Given the description of an element on the screen output the (x, y) to click on. 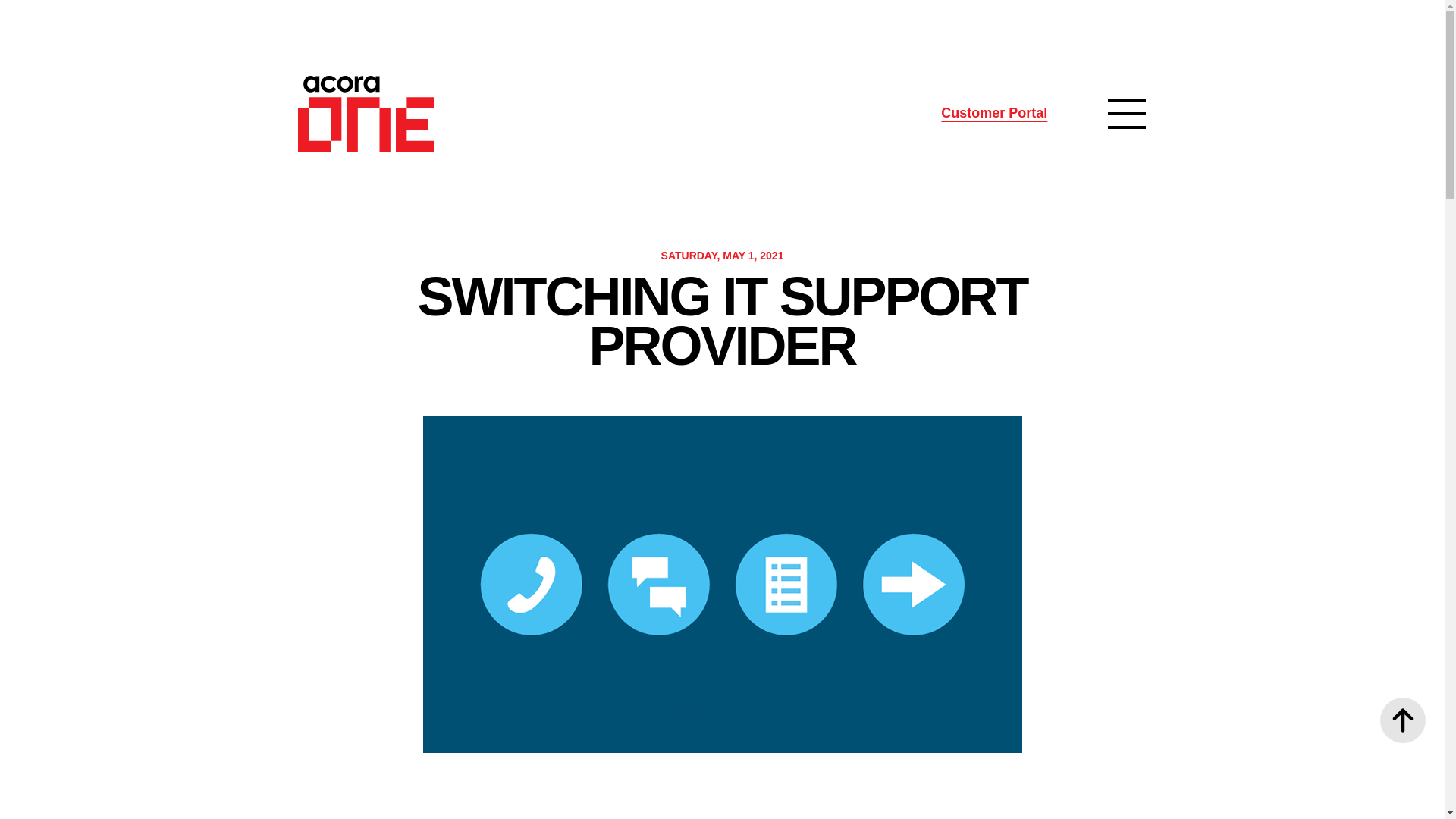
Customer Portal (993, 113)
Customer Portal (993, 113)
Acora One Homepage (364, 113)
